Given the description of an element on the screen output the (x, y) to click on. 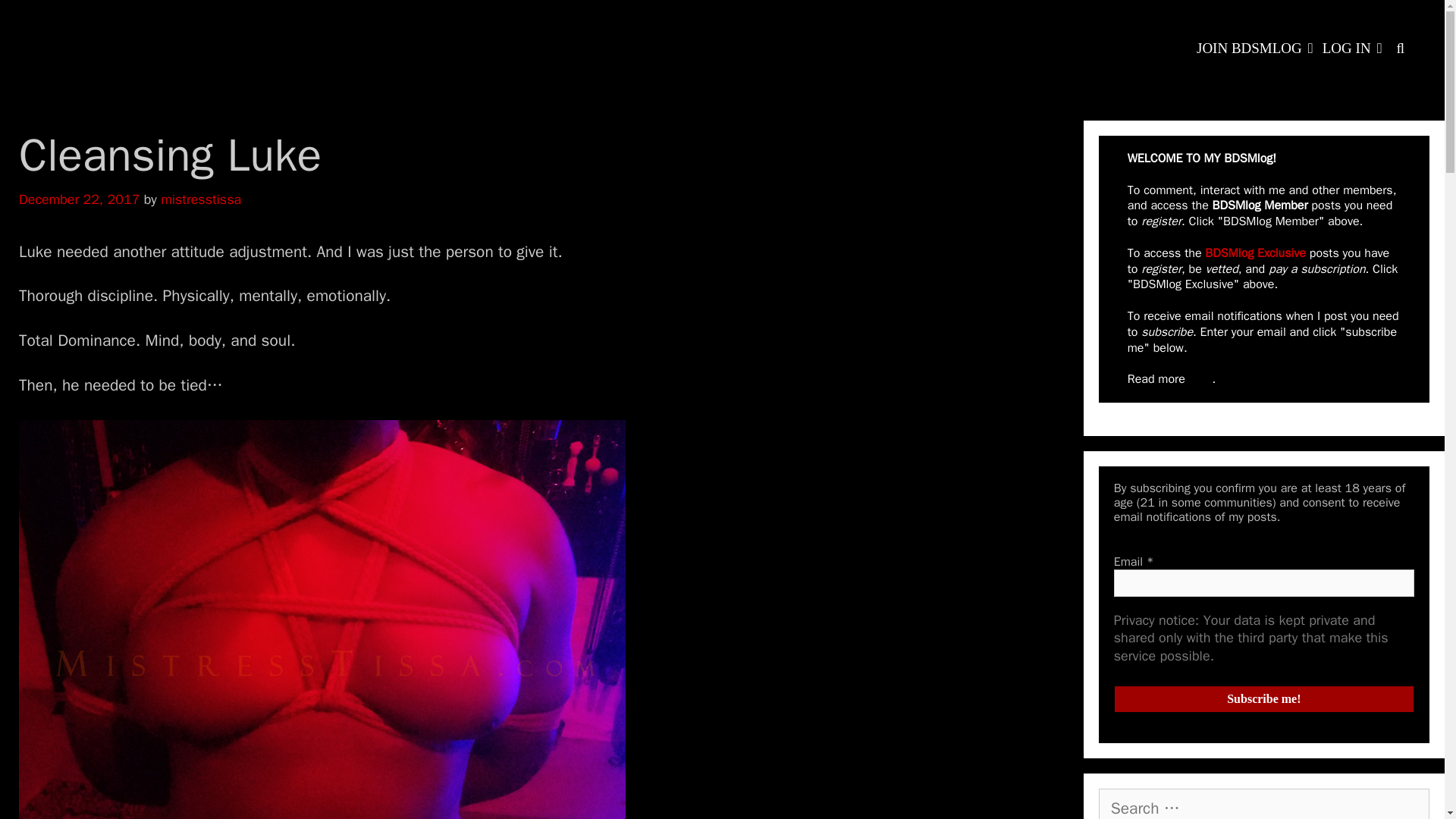
SEARCH (1400, 48)
Email (1263, 583)
LOG IN (1352, 48)
Search for: (1264, 803)
Subscribe me! (1263, 698)
3:14 am (78, 199)
View all posts by mistresstissa (200, 199)
Search (1400, 48)
December 22, 2017 (78, 199)
JOIN BDSMLOG (1254, 48)
mistresstissa (200, 199)
Search (111, 27)
